Given the description of an element on the screen output the (x, y) to click on. 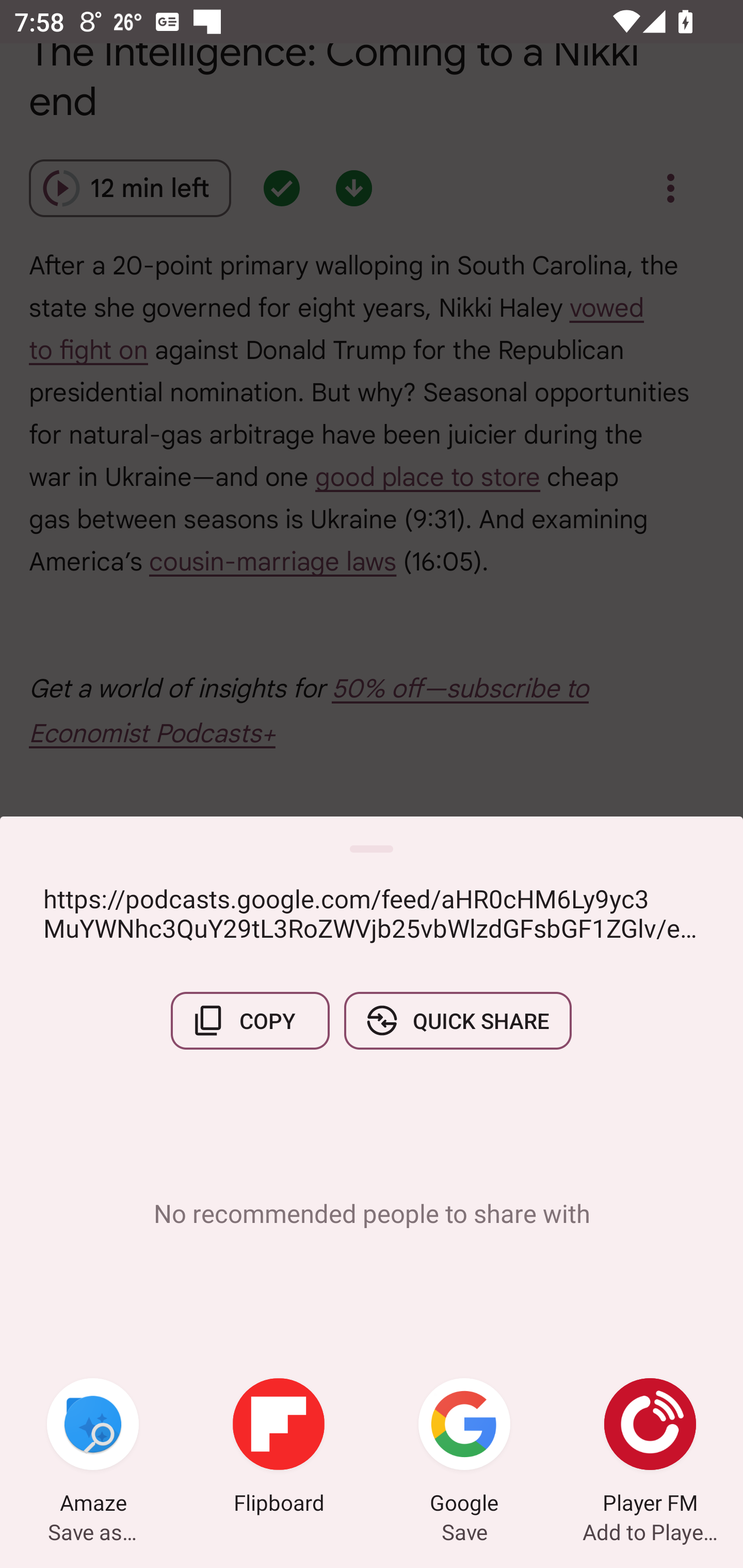
COPY (249, 1020)
QUICK SHARE (457, 1020)
Amaze Save as… (92, 1448)
Flipboard (278, 1448)
Google Save (464, 1448)
Player FM Add to Player FM (650, 1448)
